Given the description of an element on the screen output the (x, y) to click on. 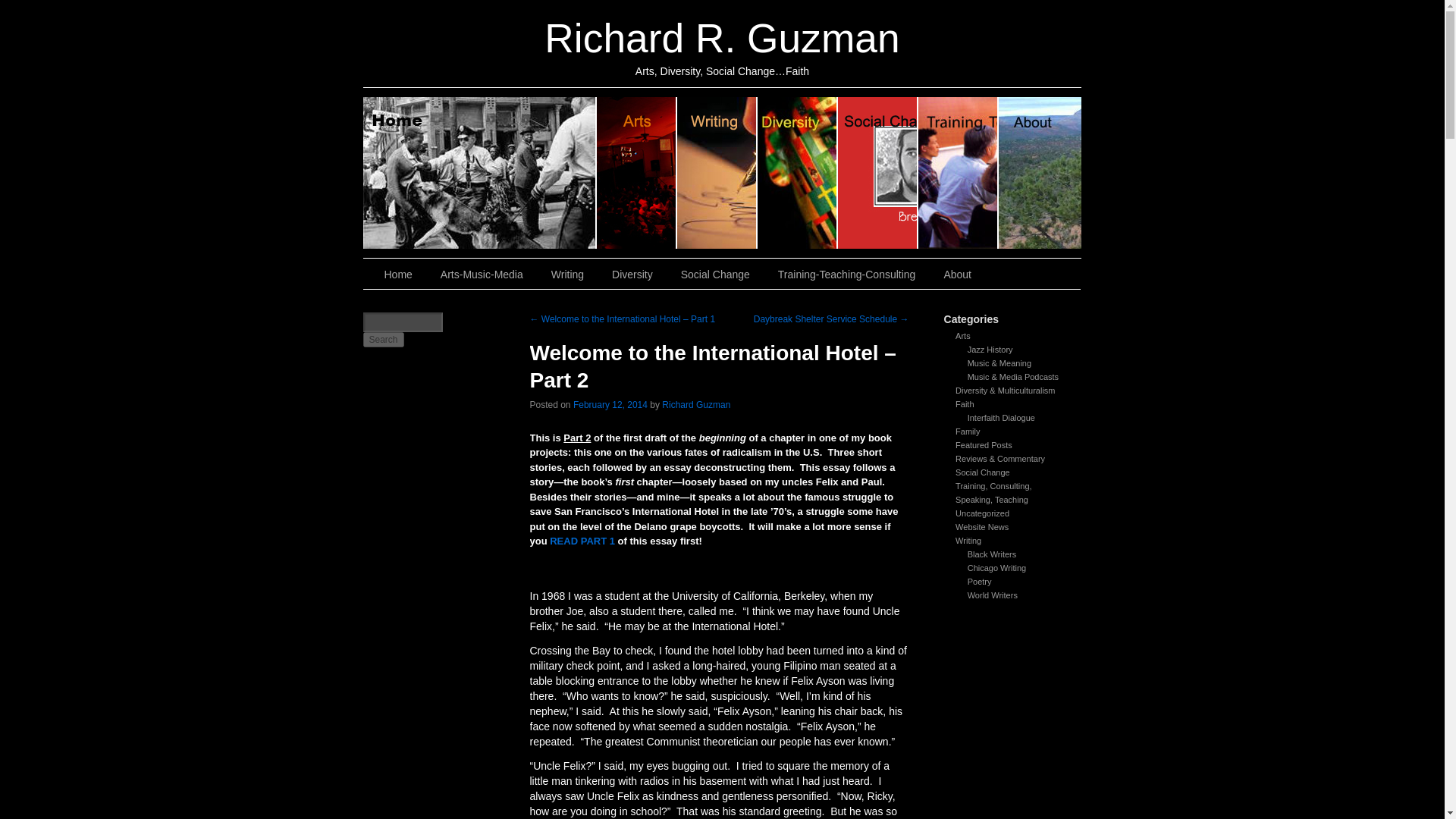
View all posts by Richard Guzman (696, 404)
Richard R. Guzman (721, 37)
Search (382, 339)
About (959, 274)
Diversity (633, 274)
Writing (568, 274)
welcome to the International Hotel - Part 1 (582, 541)
Teaching, Consulting (848, 274)
Home (478, 172)
Search (382, 339)
